Given the description of an element on the screen output the (x, y) to click on. 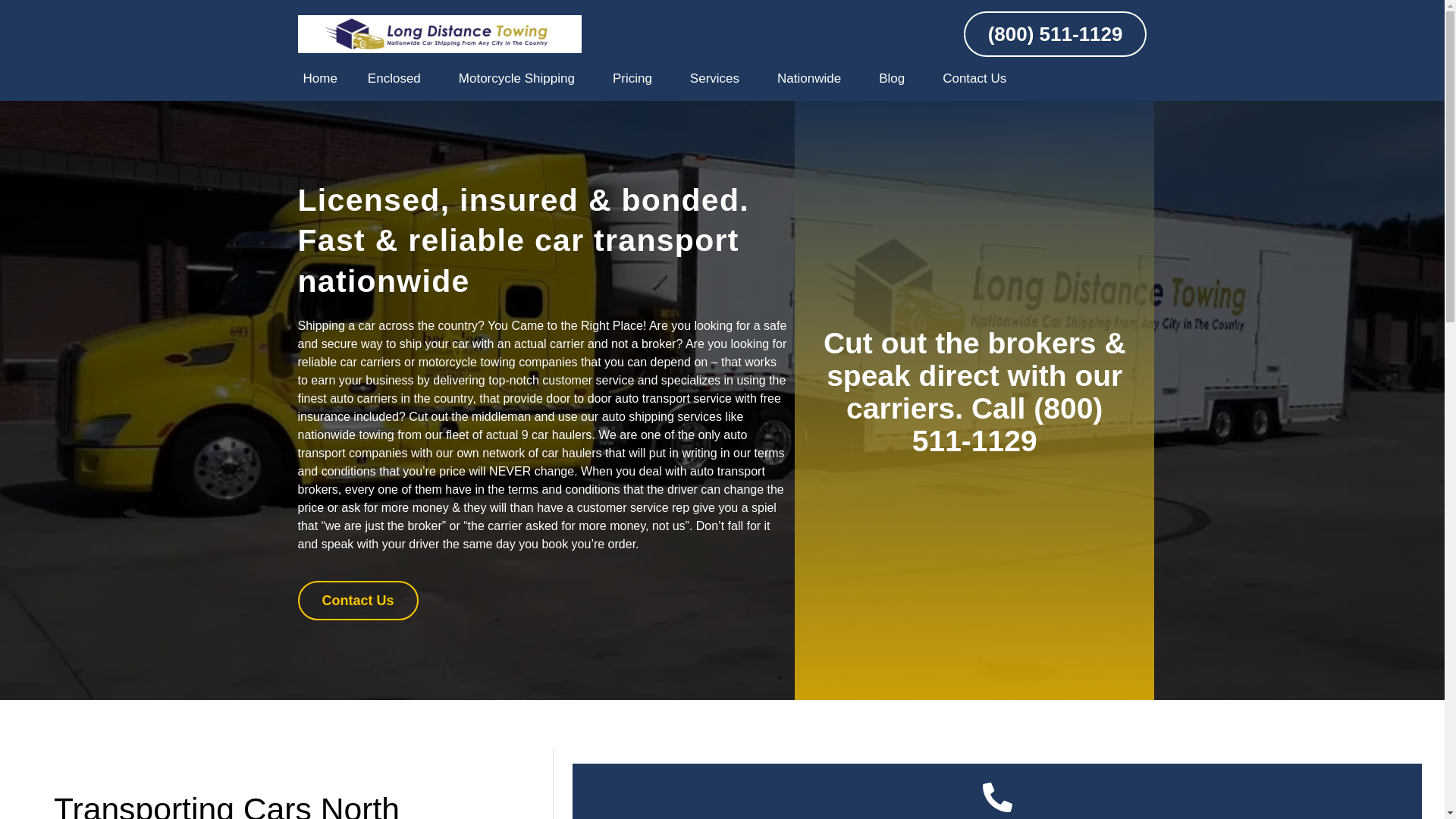
Motorcycle Shipping (520, 78)
Enclosed (398, 78)
Home (319, 78)
